Given the description of an element on the screen output the (x, y) to click on. 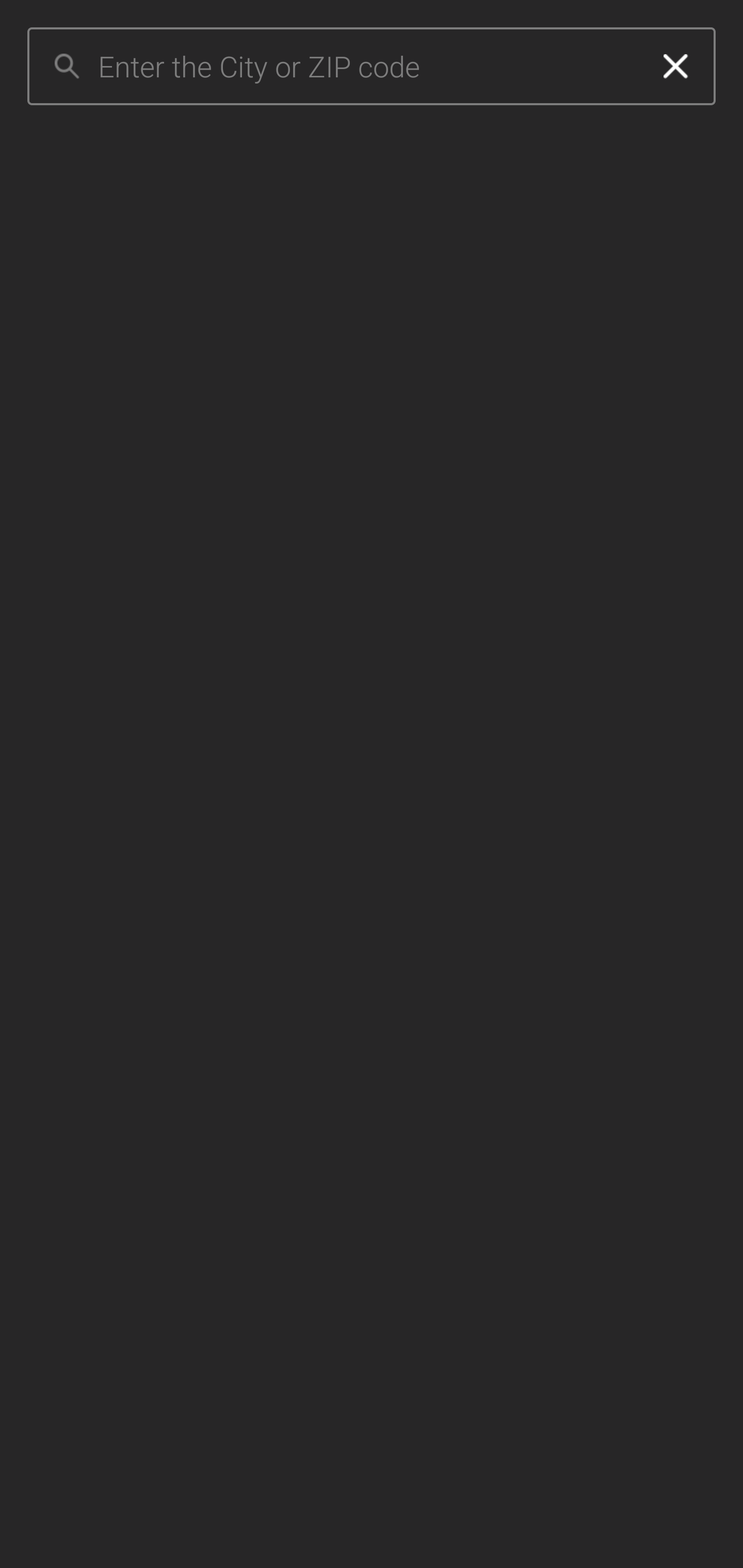
Enter the City or ZIP code (367, 66)
